Given the description of an element on the screen output the (x, y) to click on. 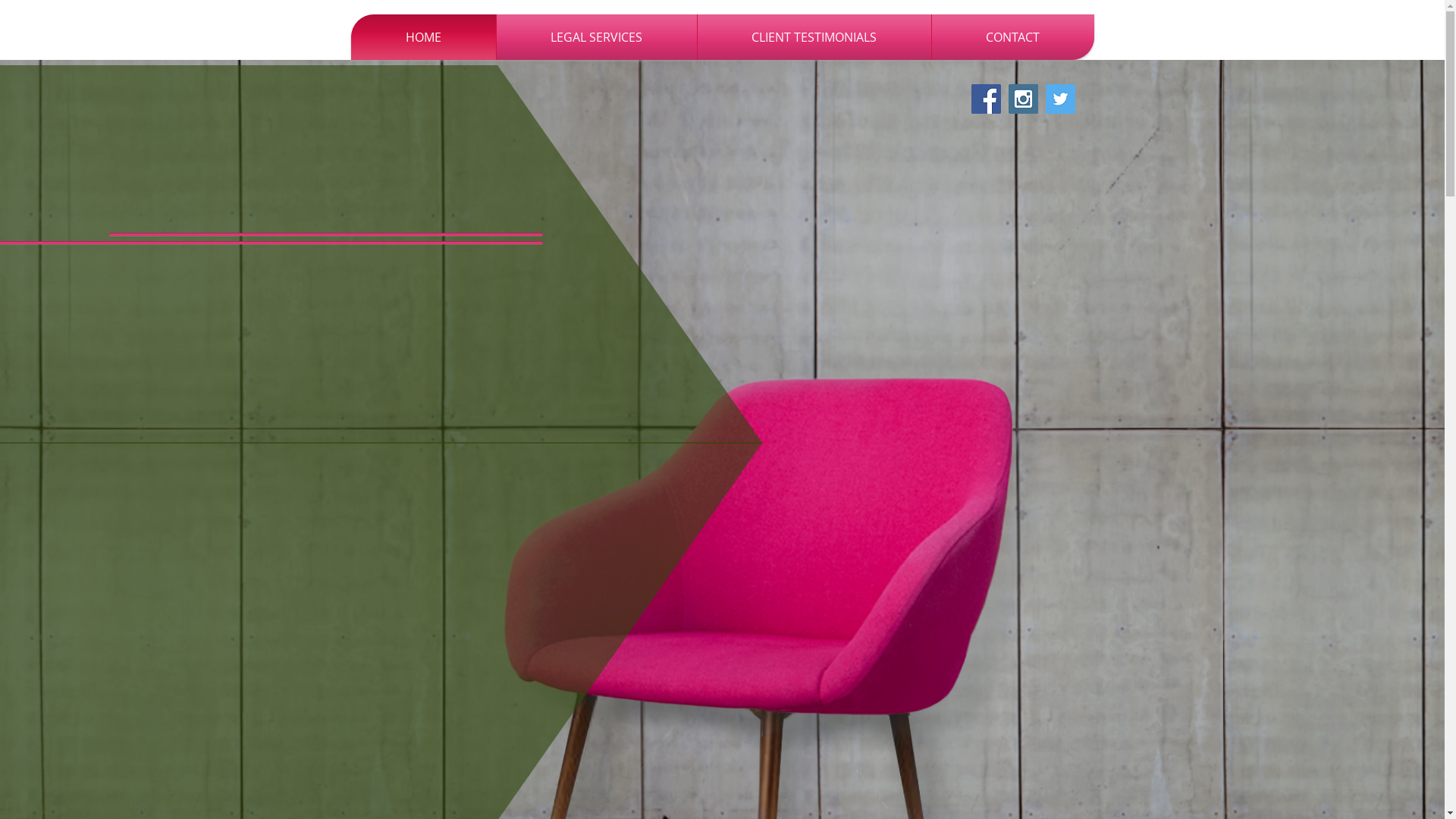
CLIENT TESTIMONIALS Element type: text (814, 36)
CONTACT Element type: text (1012, 36)
HOME Element type: text (422, 36)
